Given the description of an element on the screen output the (x, y) to click on. 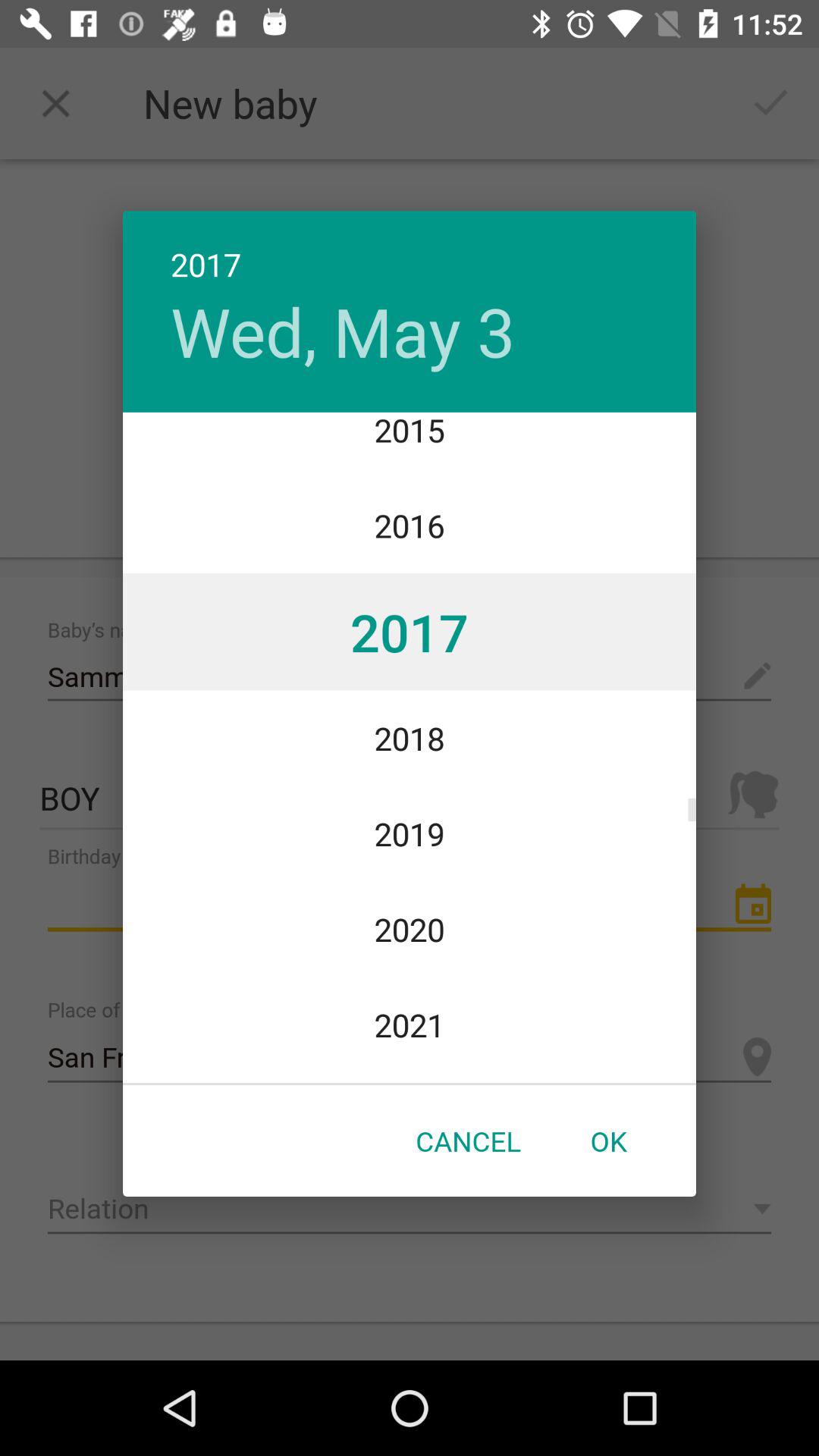
scroll until the wed, may 3 item (342, 331)
